Given the description of an element on the screen output the (x, y) to click on. 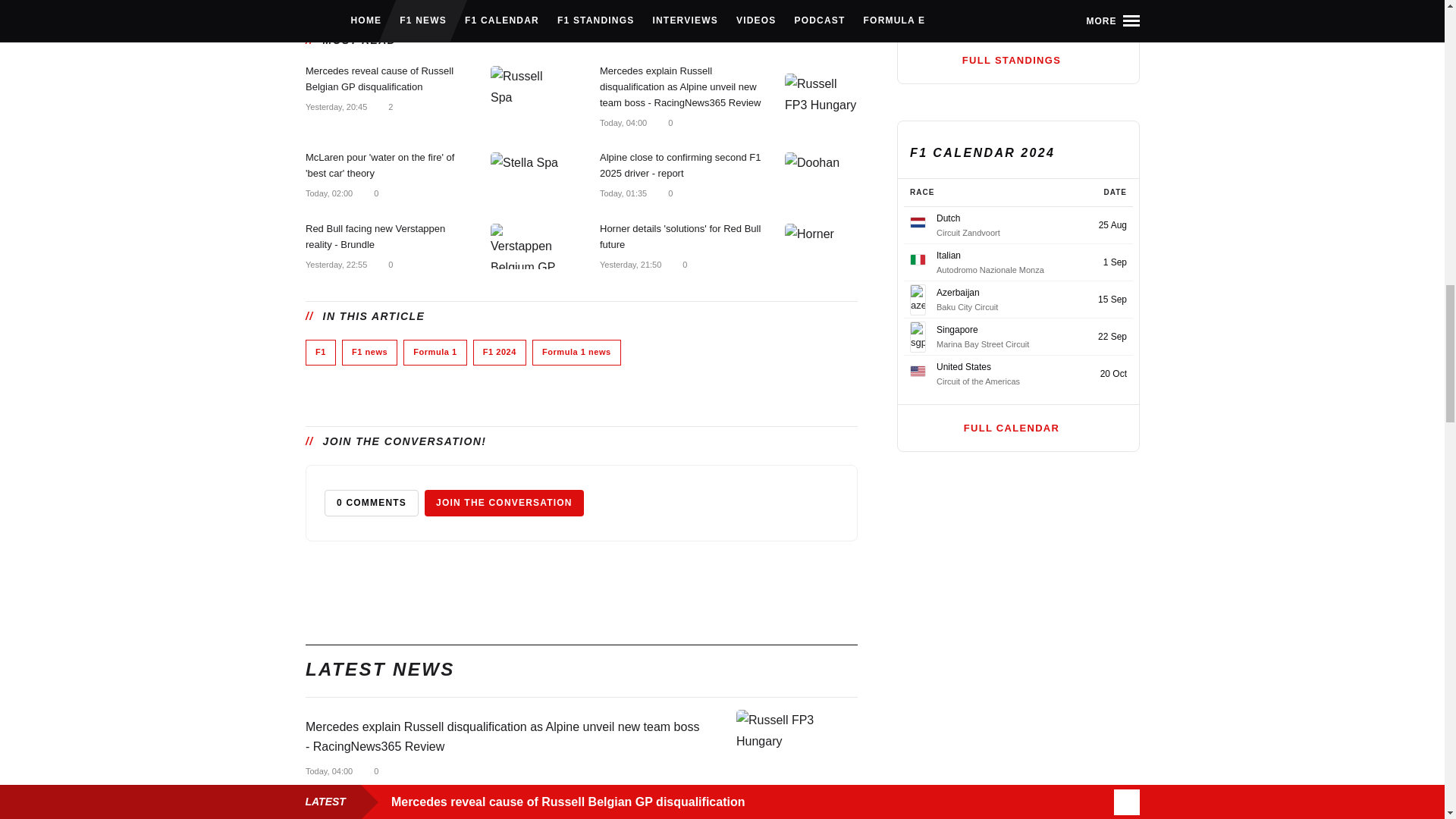
Thursday, 1 August 2024 at 04:00 (622, 122)
Thursday, 1 August 2024 at 01:35 (622, 193)
Thursday, 1 August 2024 at 02:00 (328, 193)
Wednesday, 31 July 2024 at 22:55 (335, 264)
Wednesday, 31 July 2024 at 20:45 (335, 106)
